Given the description of an element on the screen output the (x, y) to click on. 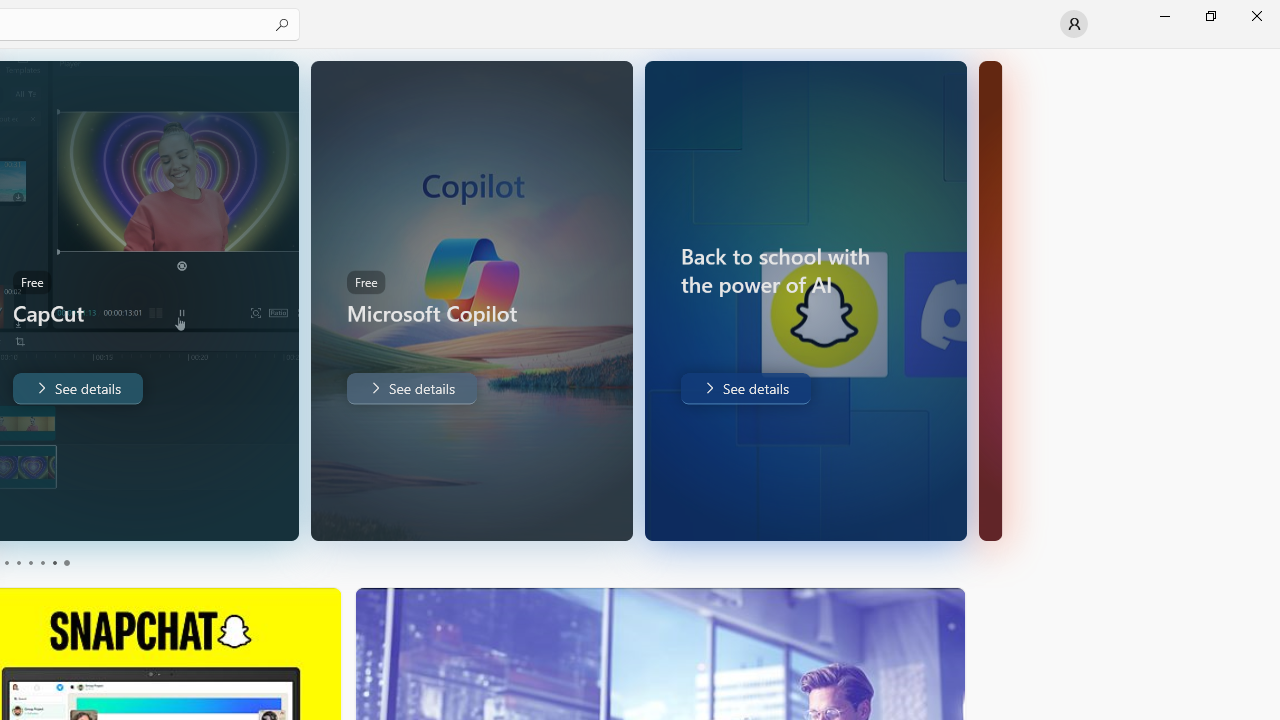
Pause Trailer (229, 512)
